Given the description of an element on the screen output the (x, y) to click on. 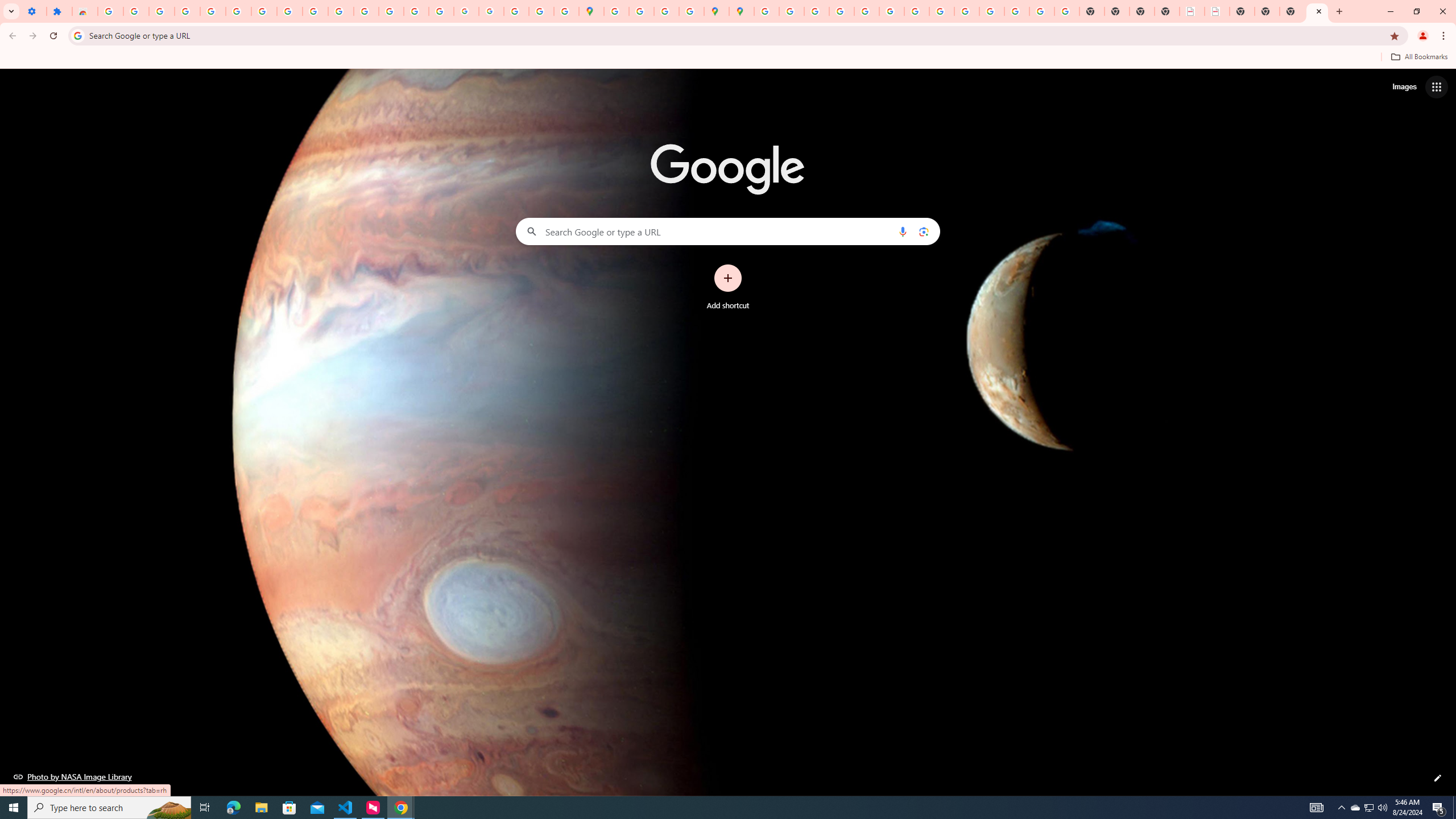
Google Images (1066, 11)
New Tab (1292, 11)
Reviews: Helix Fruit Jump Arcade Game (84, 11)
New Tab (1317, 11)
https://scholar.google.com/ (365, 11)
LAAD Defence & Security 2025 | BAE Systems (1191, 11)
